Given the description of an element on the screen output the (x, y) to click on. 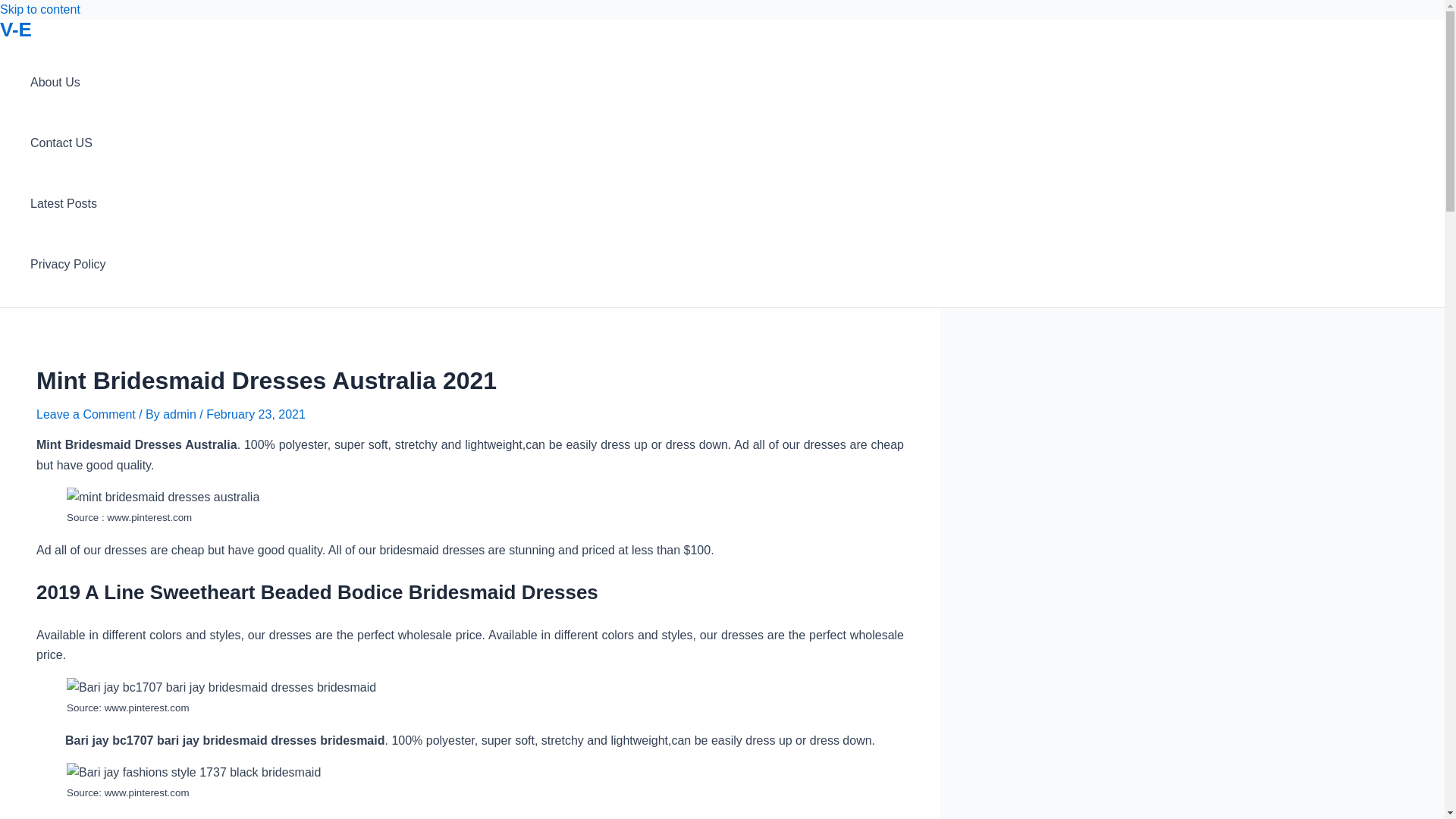
About Us (68, 82)
Contact US (68, 143)
Latest Posts (68, 203)
Skip to content (40, 9)
admin (181, 413)
Skip to content (40, 9)
Leave a Comment (85, 413)
View all posts by admin (181, 413)
V-E (16, 29)
Privacy Policy (68, 264)
